Given the description of an element on the screen output the (x, y) to click on. 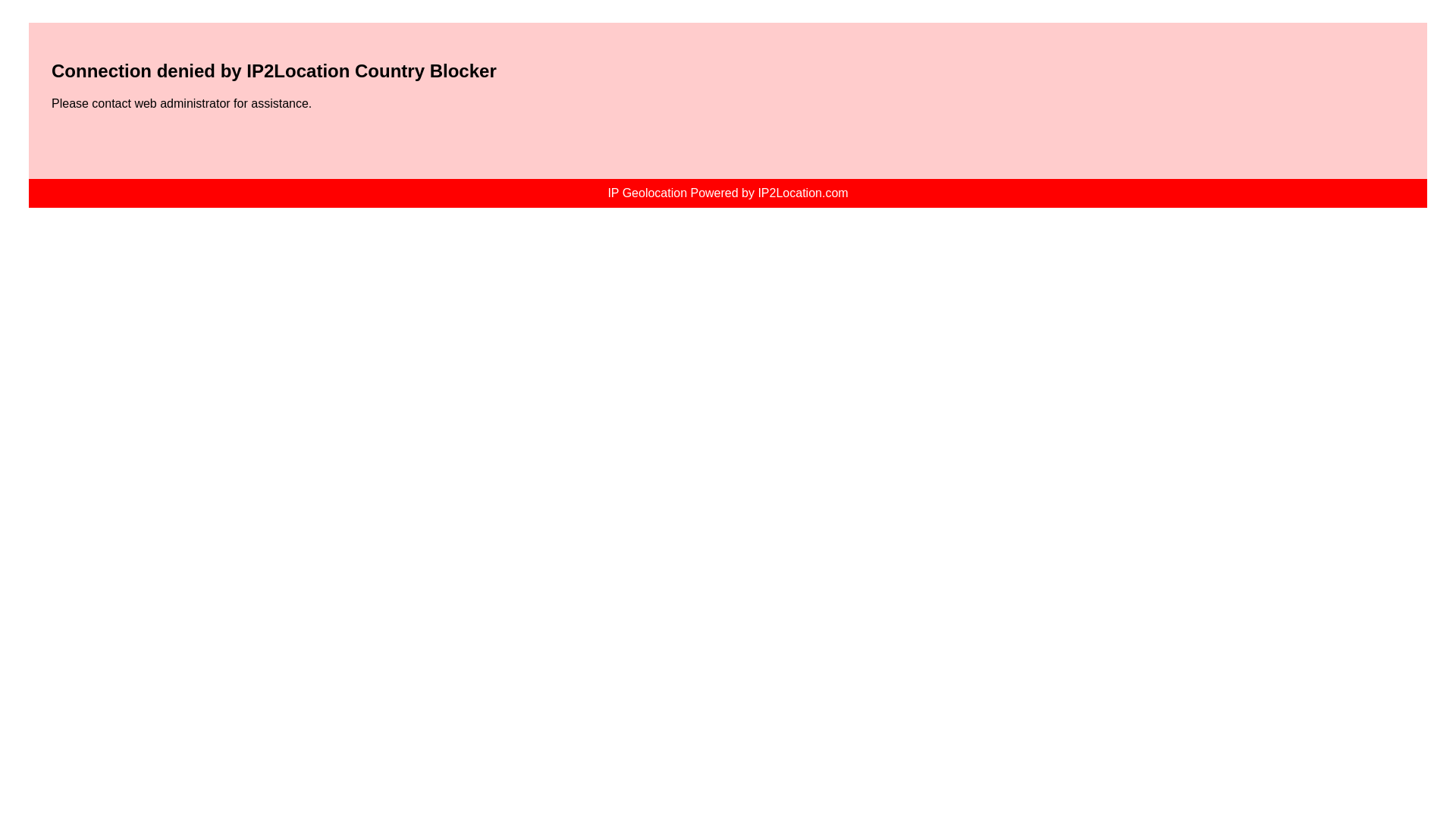
IP Geolocation Powered by IP2Location.com (727, 192)
